Given the description of an element on the screen output the (x, y) to click on. 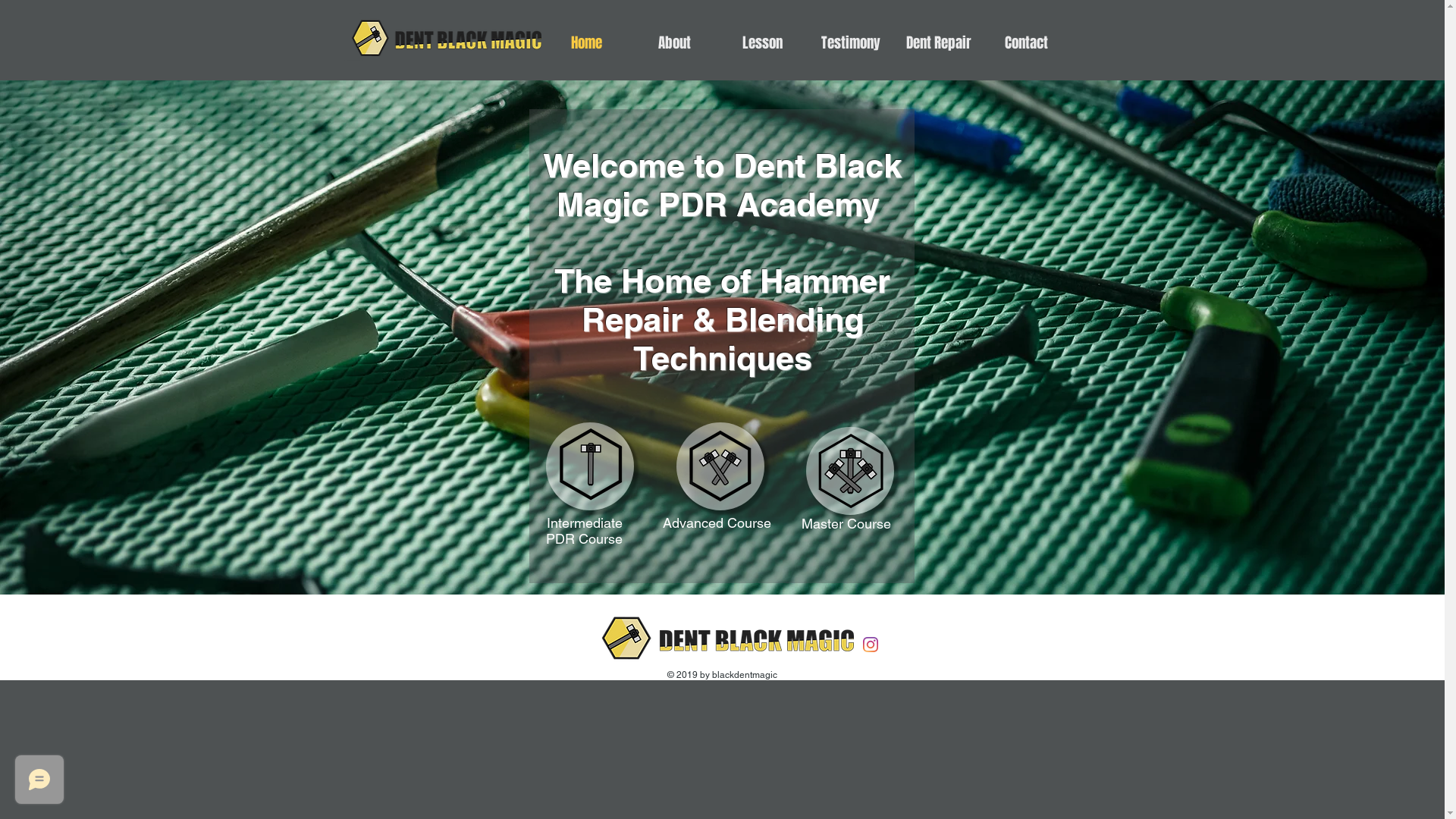
Advanced Course Element type: text (716, 522)
Home Element type: text (586, 42)
Intermediate PDR Course Element type: text (584, 530)
Dent Repair Element type: text (938, 42)
Contact Element type: text (1026, 42)
About Element type: text (674, 42)
Master Course Element type: text (846, 523)
Testimony Element type: text (850, 42)
Lesson Element type: text (762, 42)
